Given the description of an element on the screen output the (x, y) to click on. 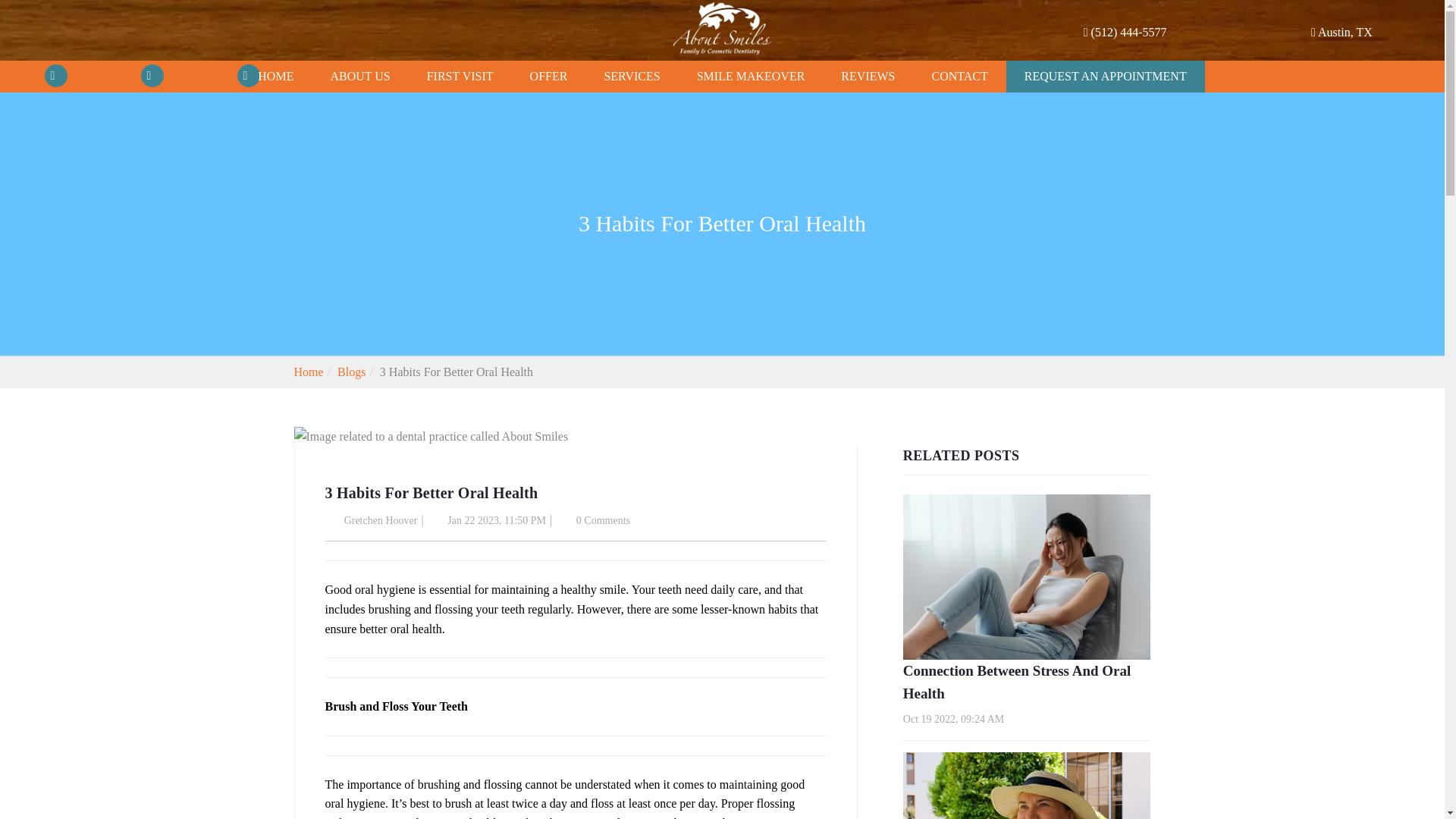
Austin, TX (1342, 7)
HOME (275, 57)
SERVICES (631, 75)
Image related to a dental practice called About Smiles (431, 436)
FIRST VISIT (460, 74)
Image related to a dental practice called About Smiles (1026, 785)
About Smiles (722, 28)
REVIEWS (867, 76)
ABOUT US (359, 60)
SMILE MAKEOVER (751, 76)
Image related to a dental practice called About Smiles (1026, 577)
CONTACT (959, 76)
OFFER (549, 75)
